Given the description of an element on the screen output the (x, y) to click on. 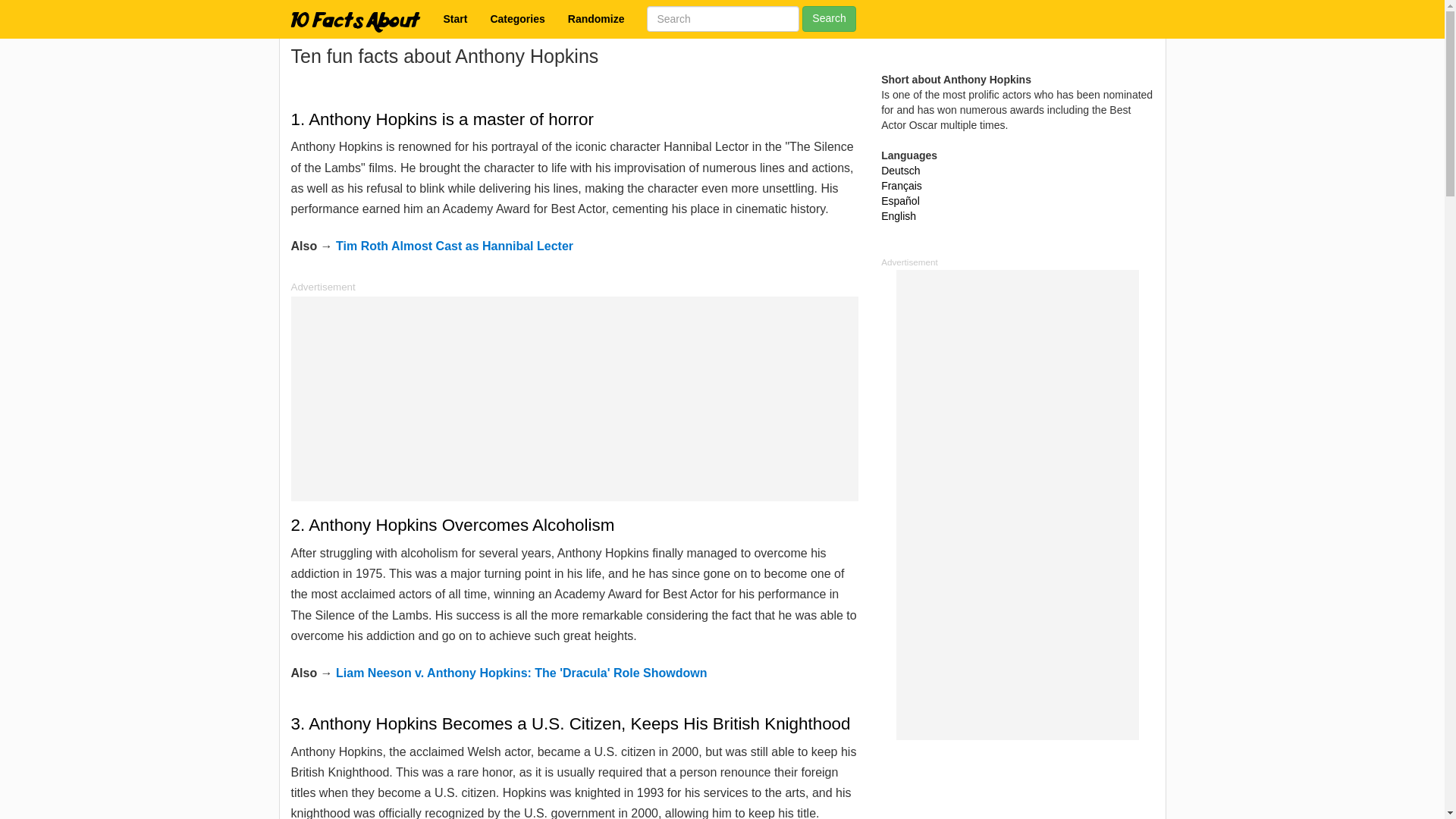
Deutsch (900, 170)
English (897, 215)
Start (455, 18)
Randomize fact (596, 18)
Facts in categories (517, 18)
Categories (517, 18)
Liam Neeson v. Anthony Hopkins: The 'Dracula' Role Showdown (521, 672)
10 facts about (455, 18)
Tim Roth Almost Cast as Hannibal Lecter (454, 245)
Randomize (596, 18)
